Given the description of an element on the screen output the (x, y) to click on. 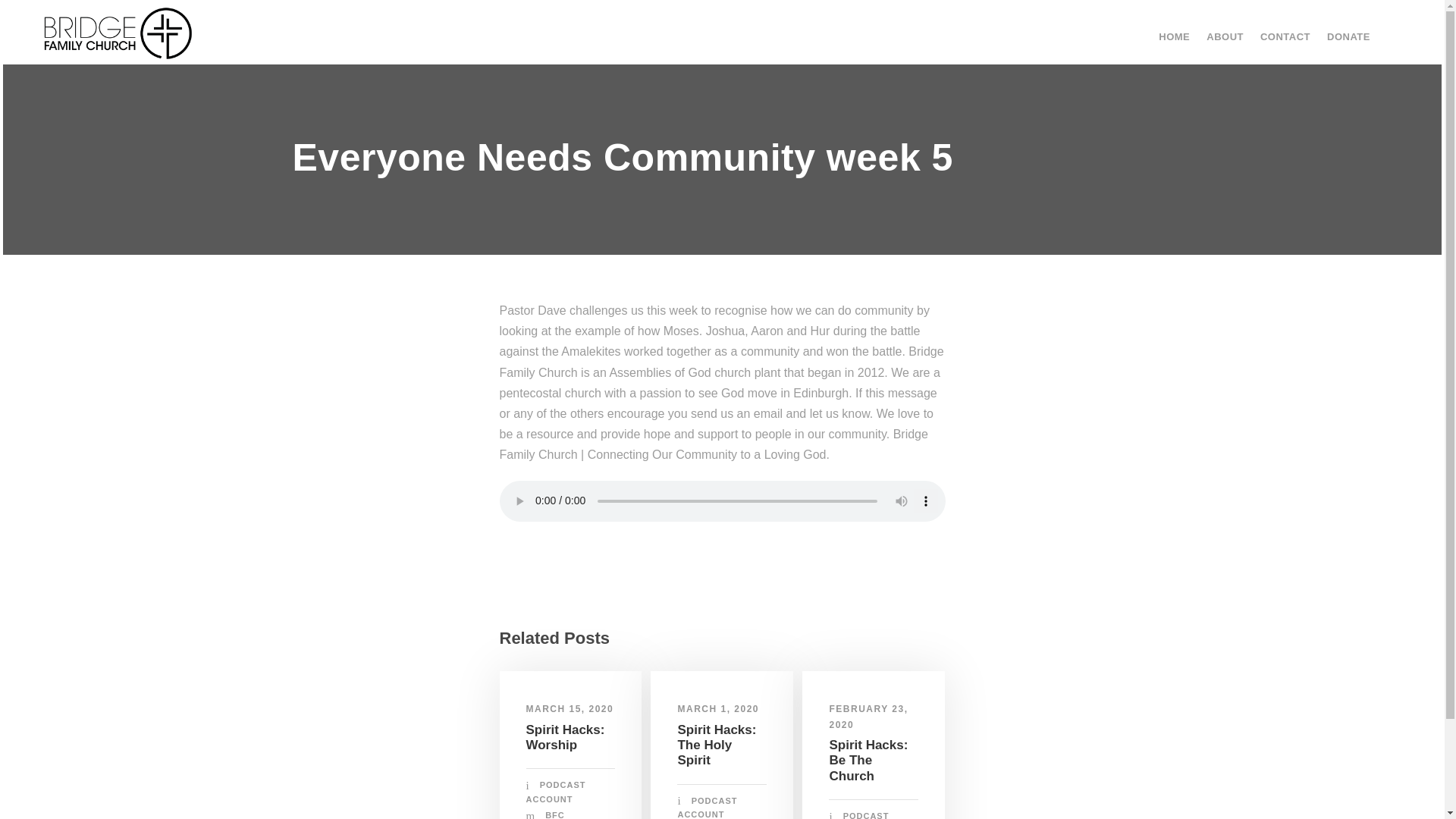
CONTACT (1285, 42)
PODCAST ACCOUNT (555, 791)
FEBRUARY 23, 2020 (867, 716)
BFC EVENTS (544, 814)
Spirit Hacks: Worship (565, 737)
MARCH 15, 2020 (569, 708)
Spirit Hacks: Be The Church (867, 759)
Spirit Hacks: The Holy Spirit (716, 745)
PODCAST ACCOUNT (706, 807)
Posts by Podcast Account (858, 815)
